Given the description of an element on the screen output the (x, y) to click on. 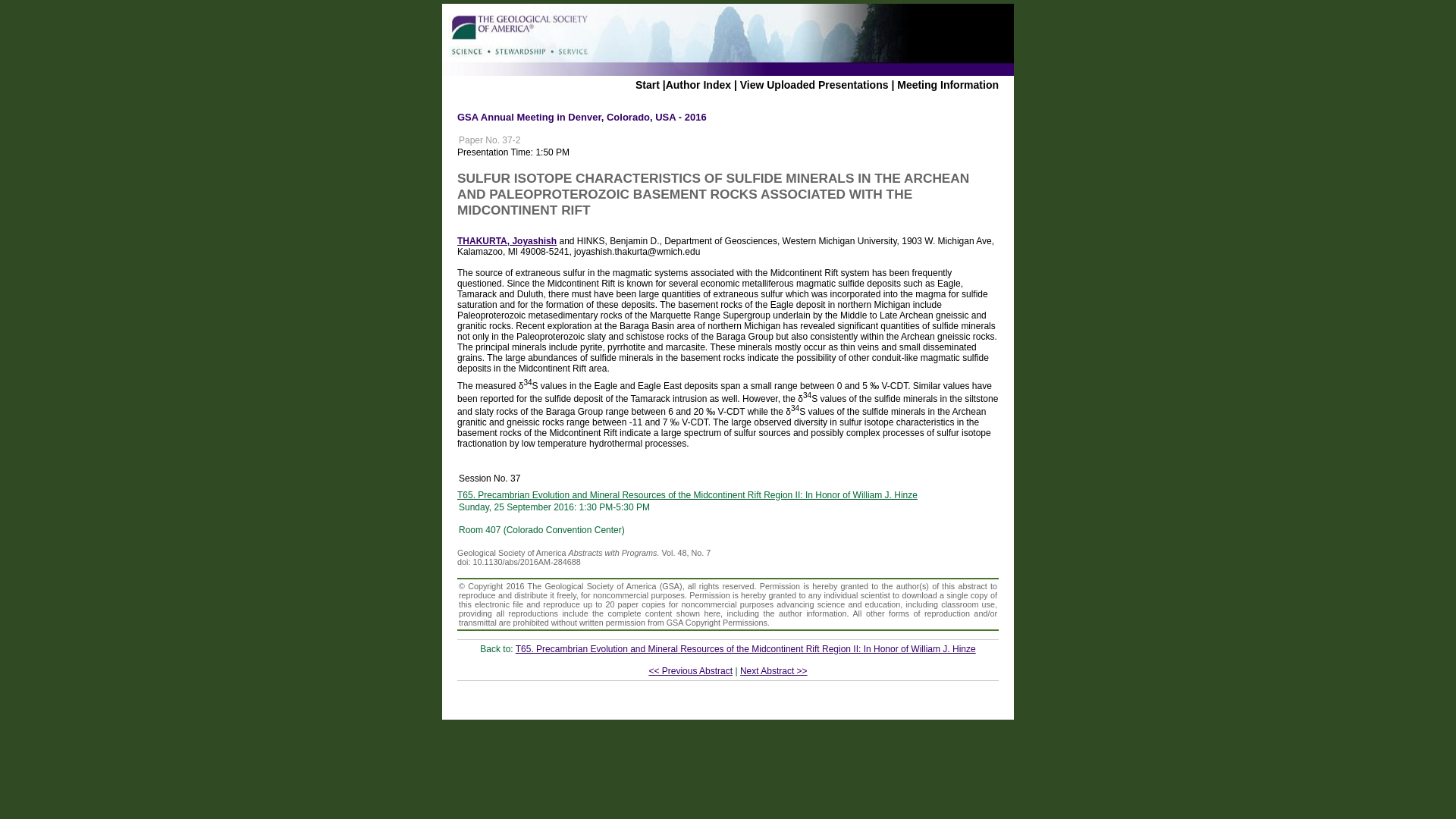
THAKURTA, Joyashish (506, 240)
Start (646, 84)
Author Index (697, 84)
View Uploaded Presentations (813, 84)
Meeting Information (947, 84)
